Given the description of an element on the screen output the (x, y) to click on. 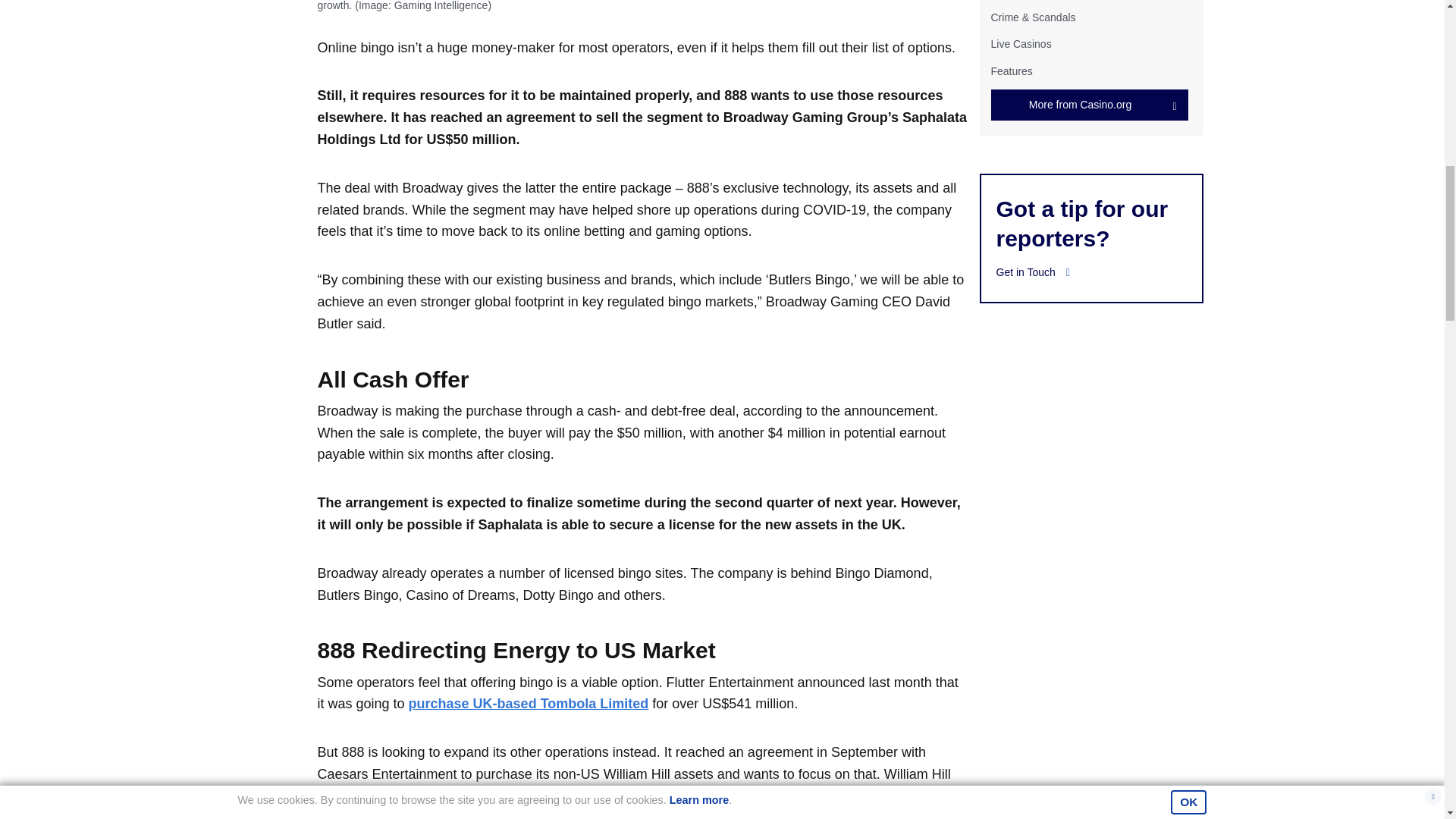
Live Casinos (1020, 43)
purchase UK-based Tombola Limited (529, 703)
Features (1011, 70)
